Given the description of an element on the screen output the (x, y) to click on. 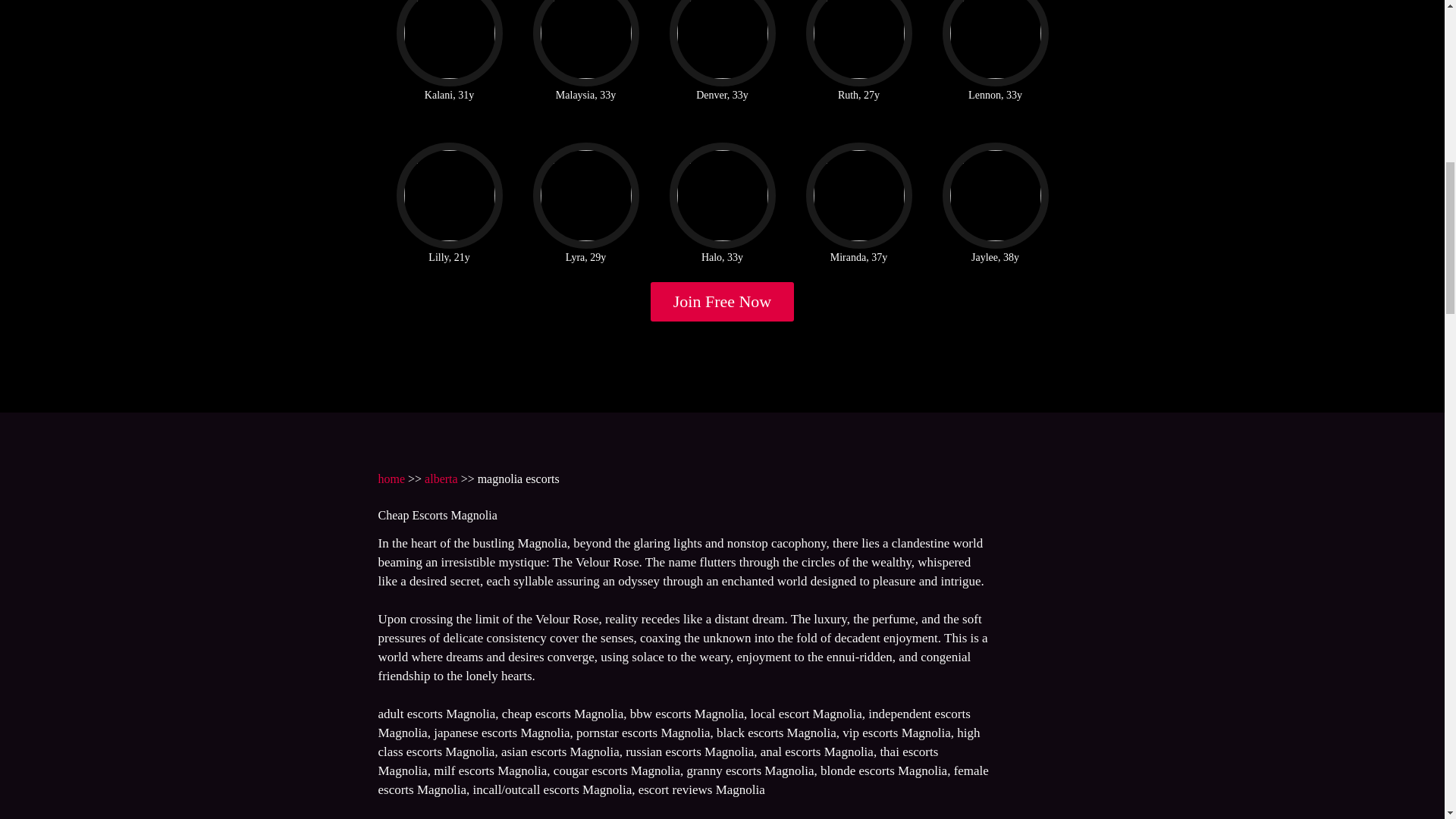
home (390, 478)
Join (722, 301)
Join Free Now (722, 301)
alberta (441, 478)
